Given the description of an element on the screen output the (x, y) to click on. 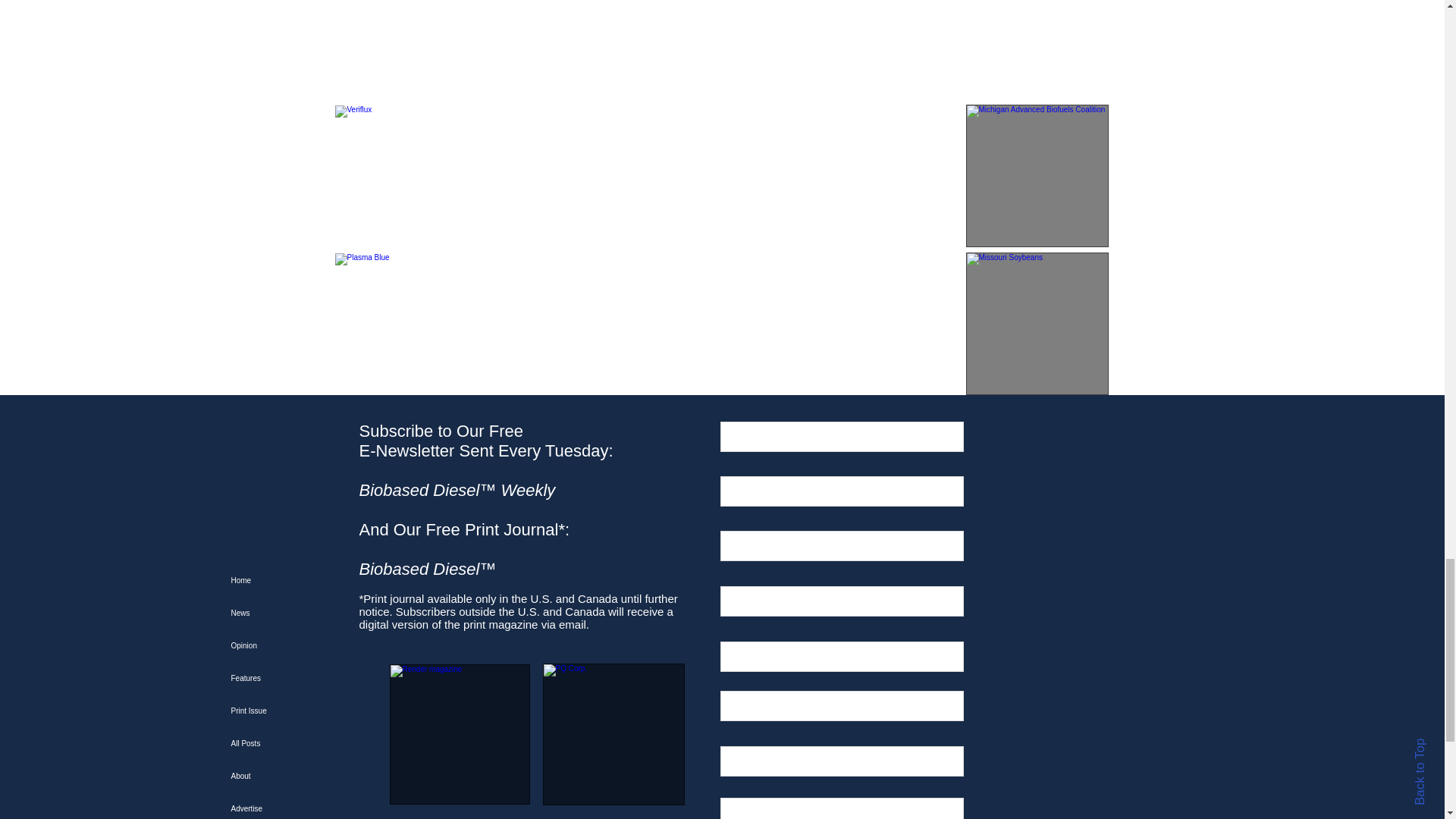
Inflectis Digital Marketing  (405, 49)
Veriflux (405, 176)
Clean Fuels Alliance America (1037, 49)
Plasma Blue (405, 323)
